Given the description of an element on the screen output the (x, y) to click on. 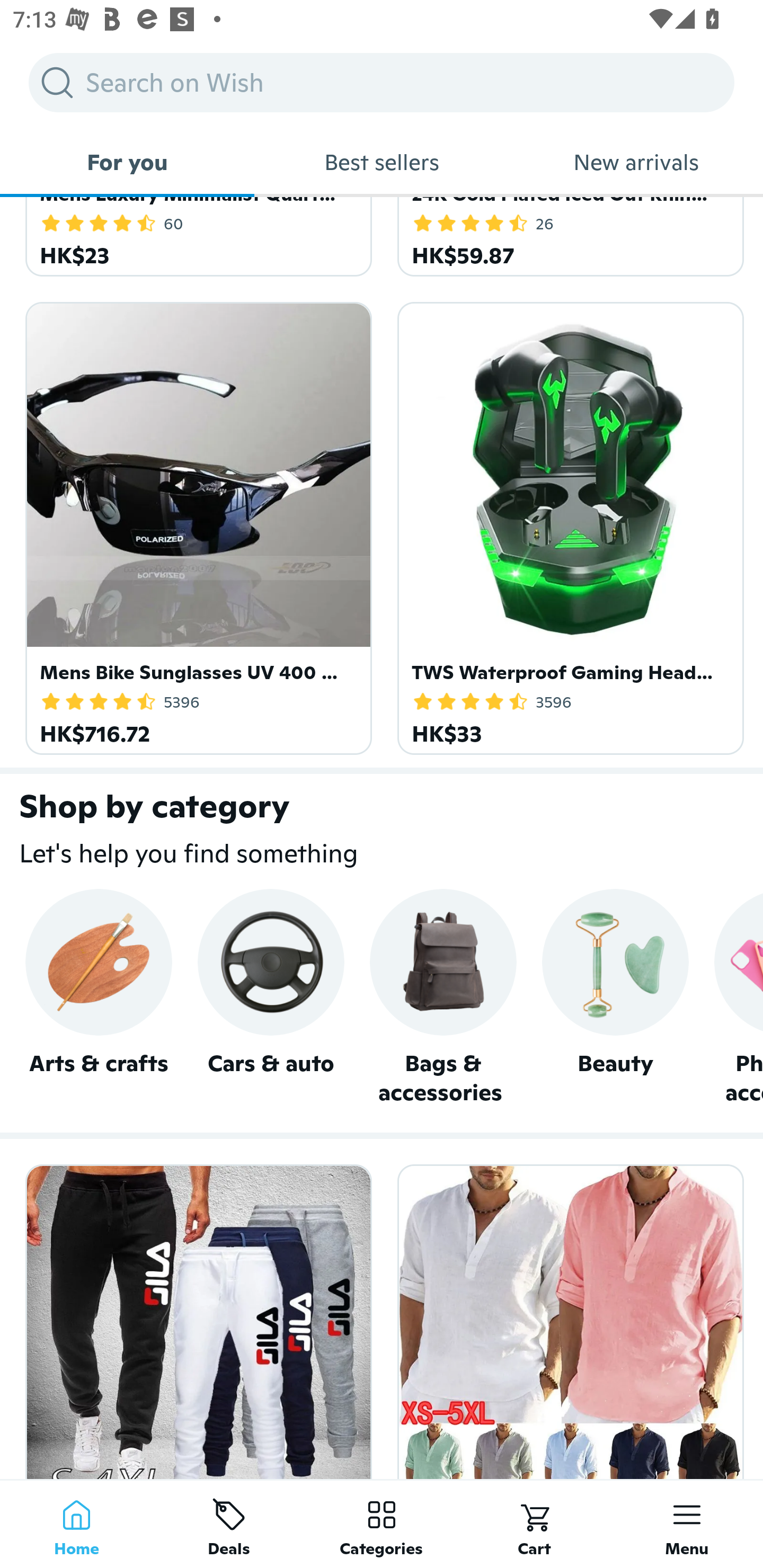
Search on Wish (381, 82)
For you (127, 161)
Best sellers (381, 161)
New arrivals (635, 161)
Arts & crafts (98, 998)
Cars & auto (270, 998)
Bags & accessories  (443, 998)
Beauty (614, 998)
Home (76, 1523)
Deals (228, 1523)
Categories (381, 1523)
Cart (533, 1523)
Menu (686, 1523)
